Given the description of an element on the screen output the (x, y) to click on. 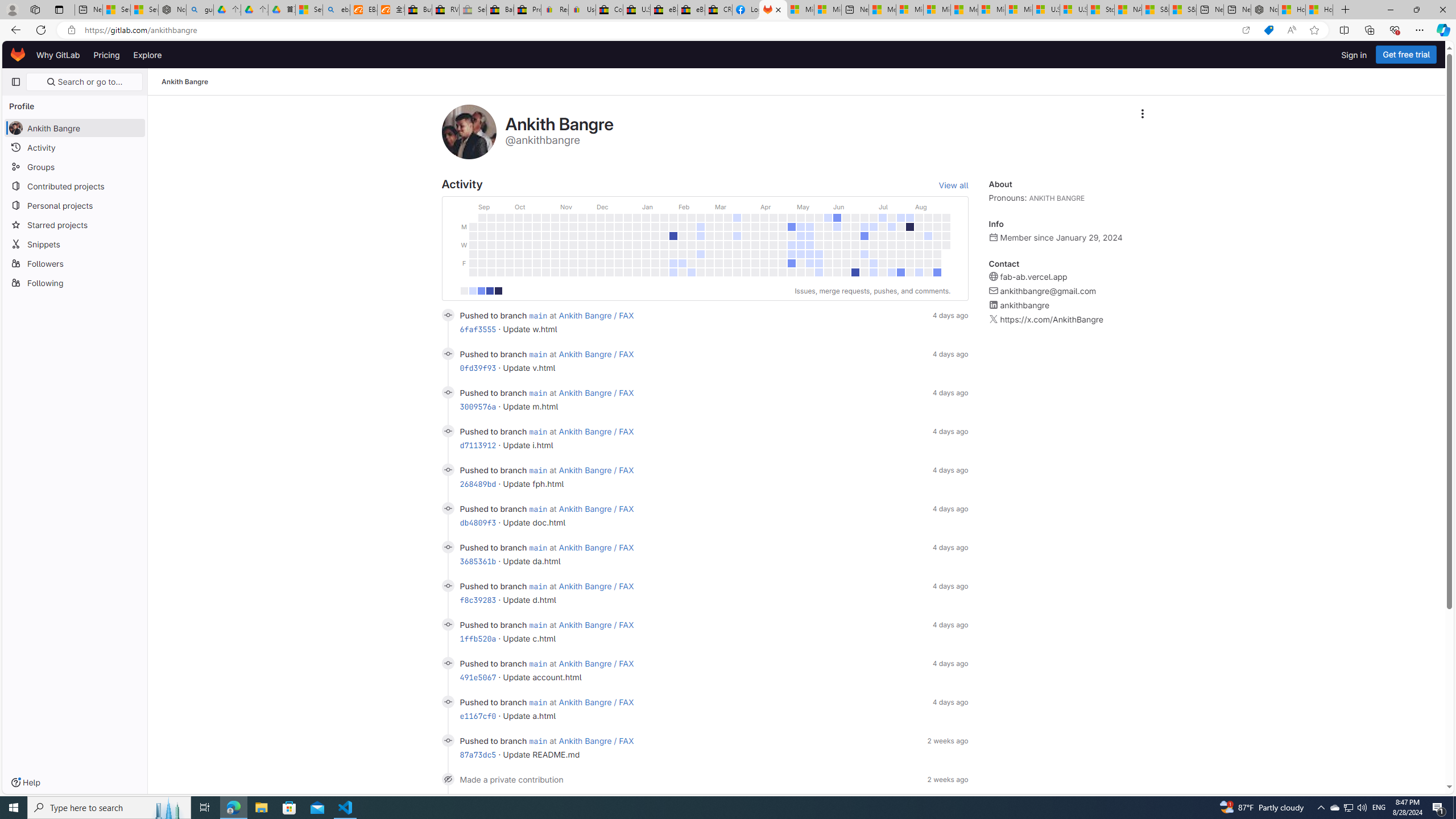
Starred projects (74, 224)
How to Use a Monitor With Your Closed Laptop (1319, 9)
fab-ab.vercel.app (1033, 277)
Class: s14 (448, 740)
